Given the description of an element on the screen output the (x, y) to click on. 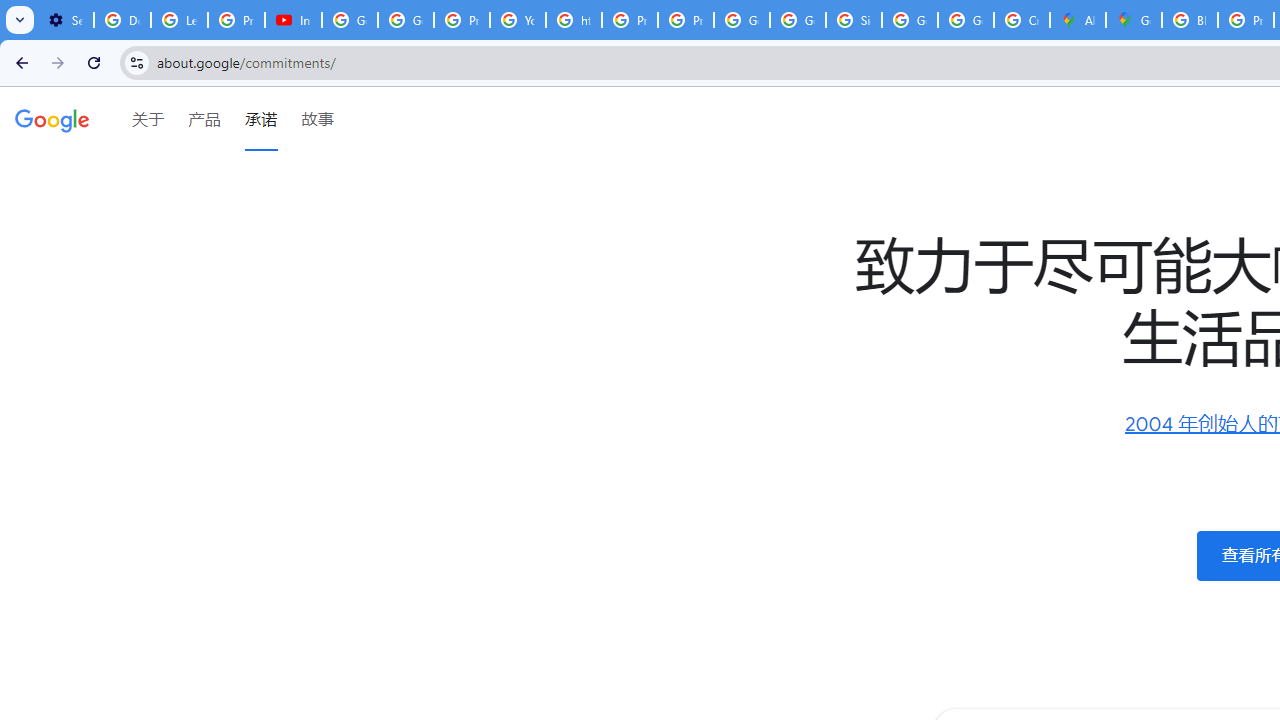
Privacy Help Center - Policies Help (629, 20)
YouTube (518, 20)
Blogger Policies and Guidelines - Transparency Center (1190, 20)
Learn how to find your photos - Google Photos Help (179, 20)
Sign in - Google Accounts (853, 20)
Introduction | Google Privacy Policy - YouTube (293, 20)
Privacy Help Center - Policies Help (461, 20)
Google Account Help (405, 20)
